Given the description of an element on the screen output the (x, y) to click on. 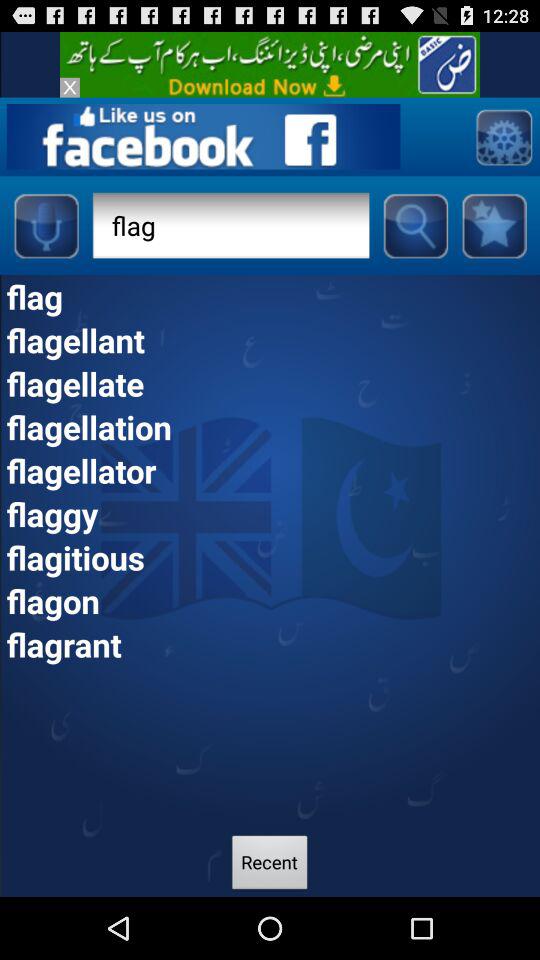
click advertisement banner (270, 64)
